Given the description of an element on the screen output the (x, y) to click on. 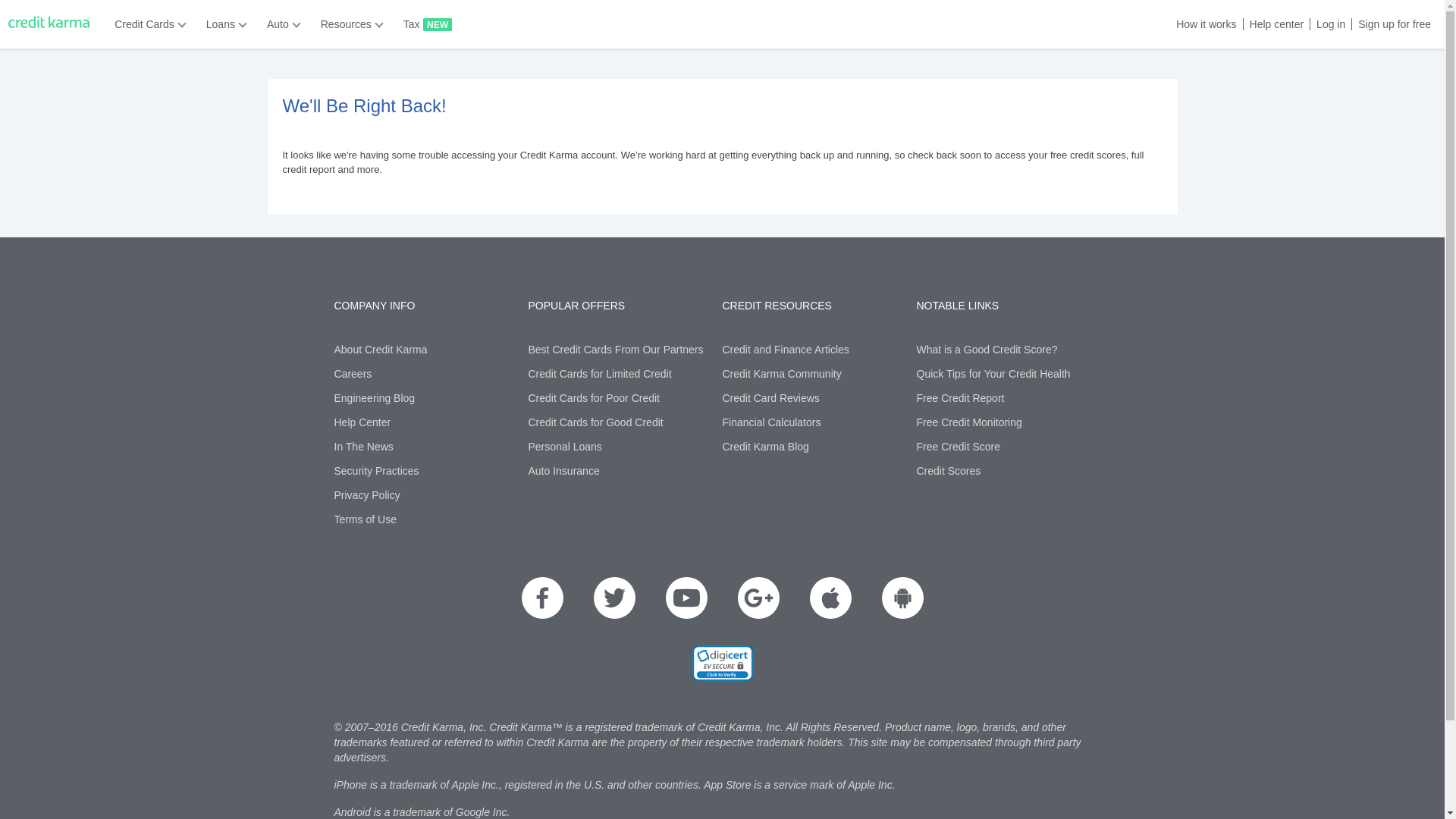
Download Android App (901, 598)
Download iOS App (830, 598)
Log in (1326, 23)
Credit Cards (146, 23)
Twitter (613, 598)
Facebook (542, 598)
YouTube (686, 598)
How it works (1203, 23)
Help center (1273, 23)
Resources (347, 23)
Sign up for free (1391, 23)
Google Plus (757, 598)
